Given the description of an element on the screen output the (x, y) to click on. 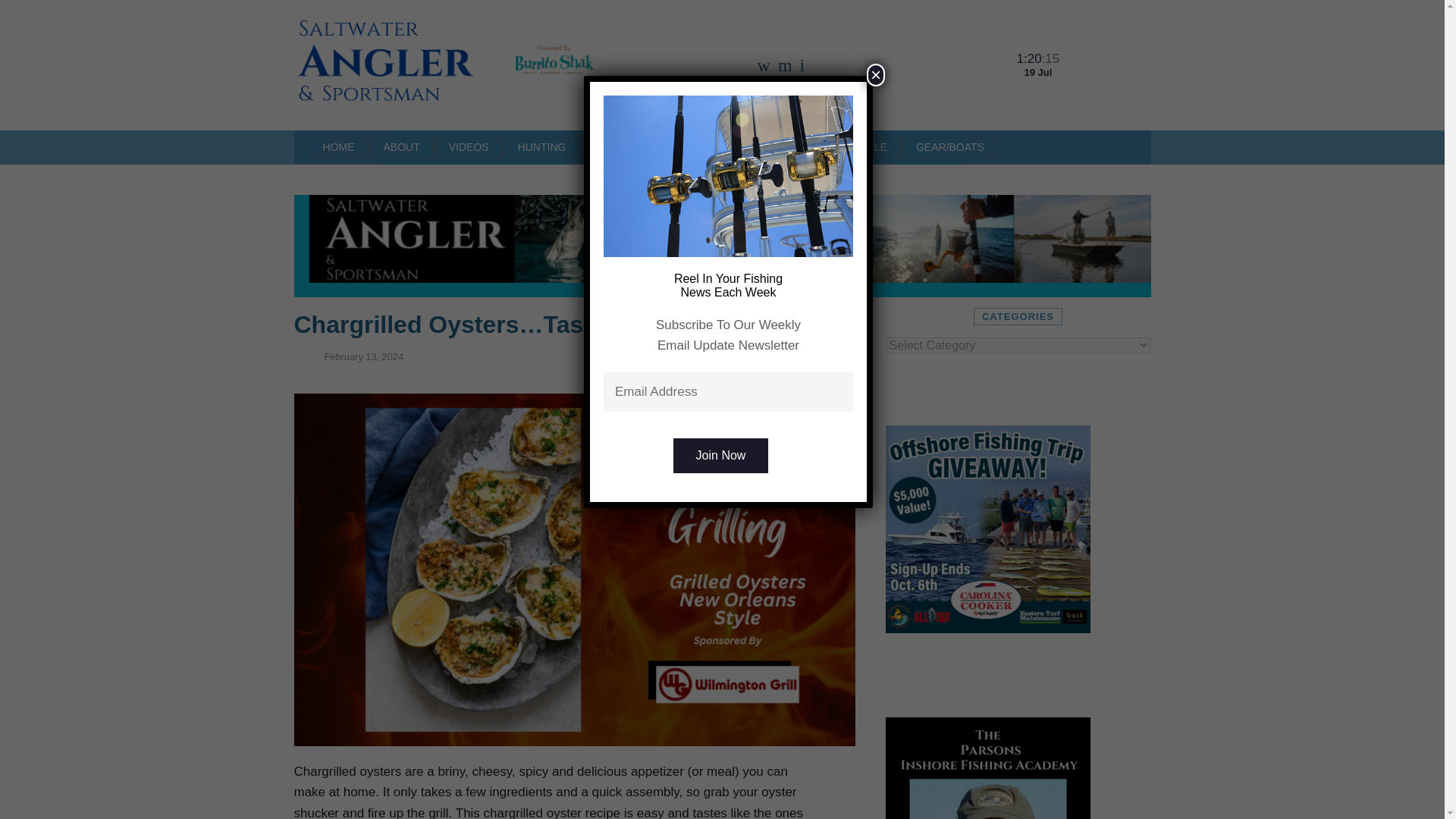
Join Now (720, 455)
HUNTING (541, 147)
ABOUT (401, 147)
HOME (338, 147)
OFFSHORE (695, 147)
LIFESTYLE (858, 147)
INSHORE (777, 147)
PEOPLE (615, 147)
VIDEOS (468, 147)
